Given the description of an element on the screen output the (x, y) to click on. 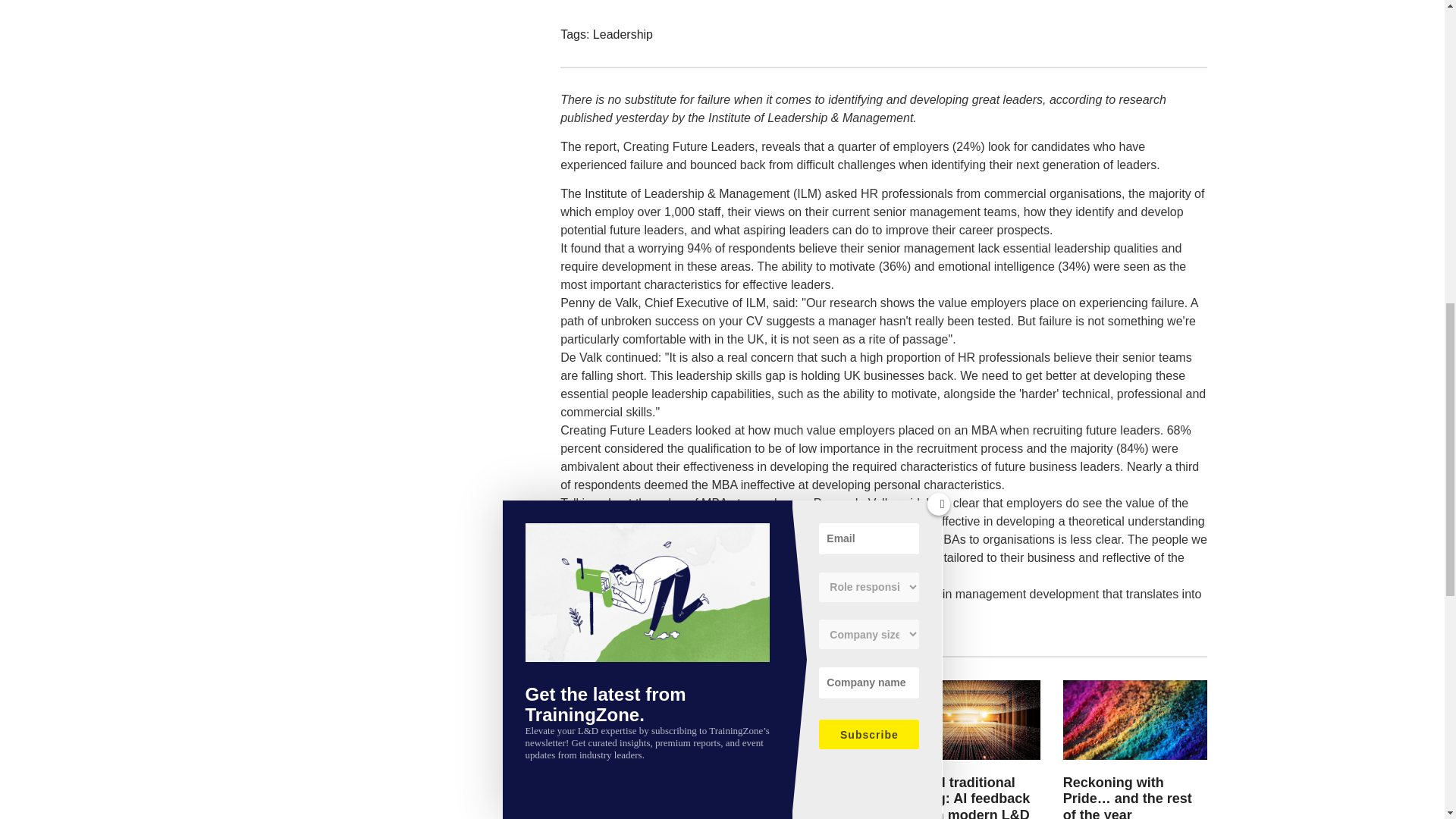
Leadership (622, 33)
